Given the description of an element on the screen output the (x, y) to click on. 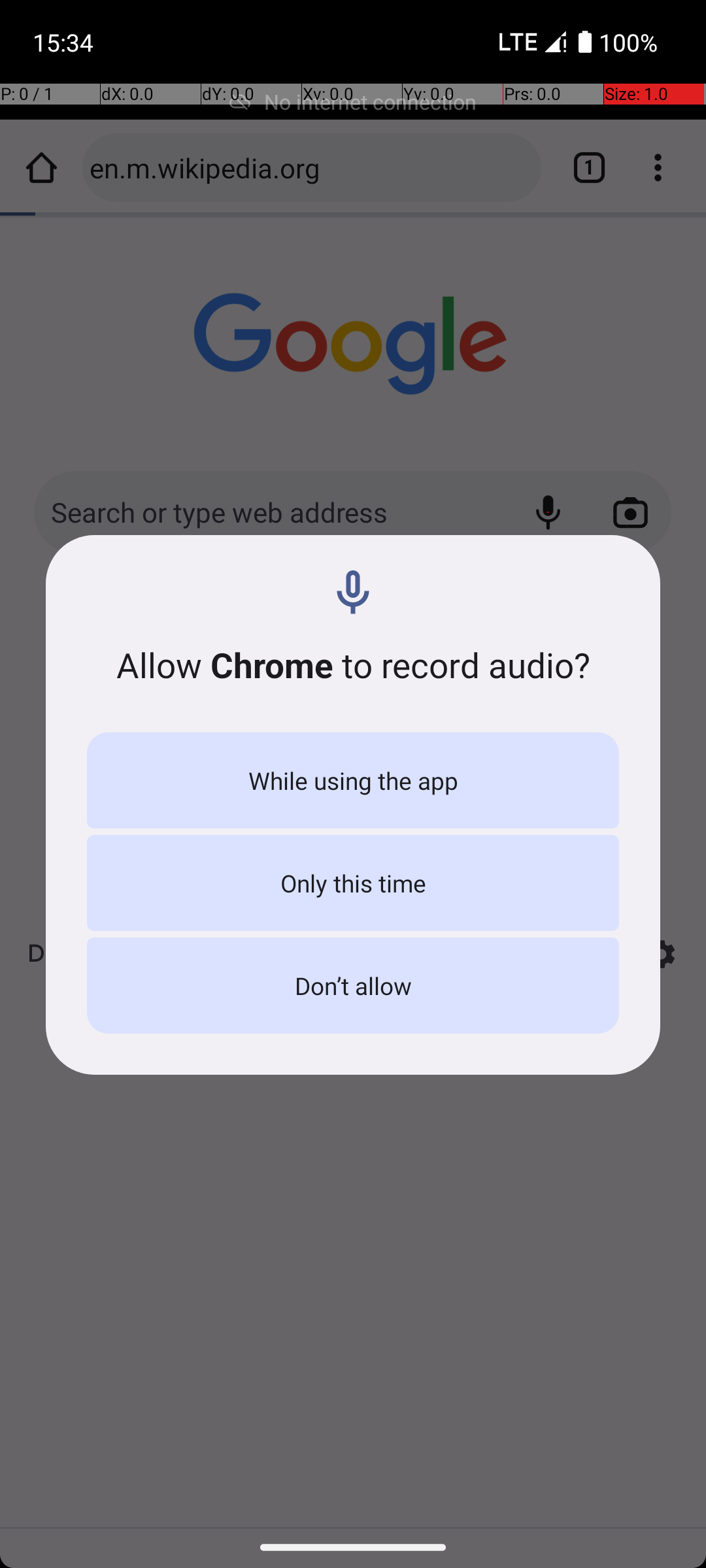
Allow Chrome to record audio? Element type: android.widget.TextView (352, 664)
While using the app Element type: android.widget.Button (352, 780)
Only this time Element type: android.widget.Button (352, 882)
